Given the description of an element on the screen output the (x, y) to click on. 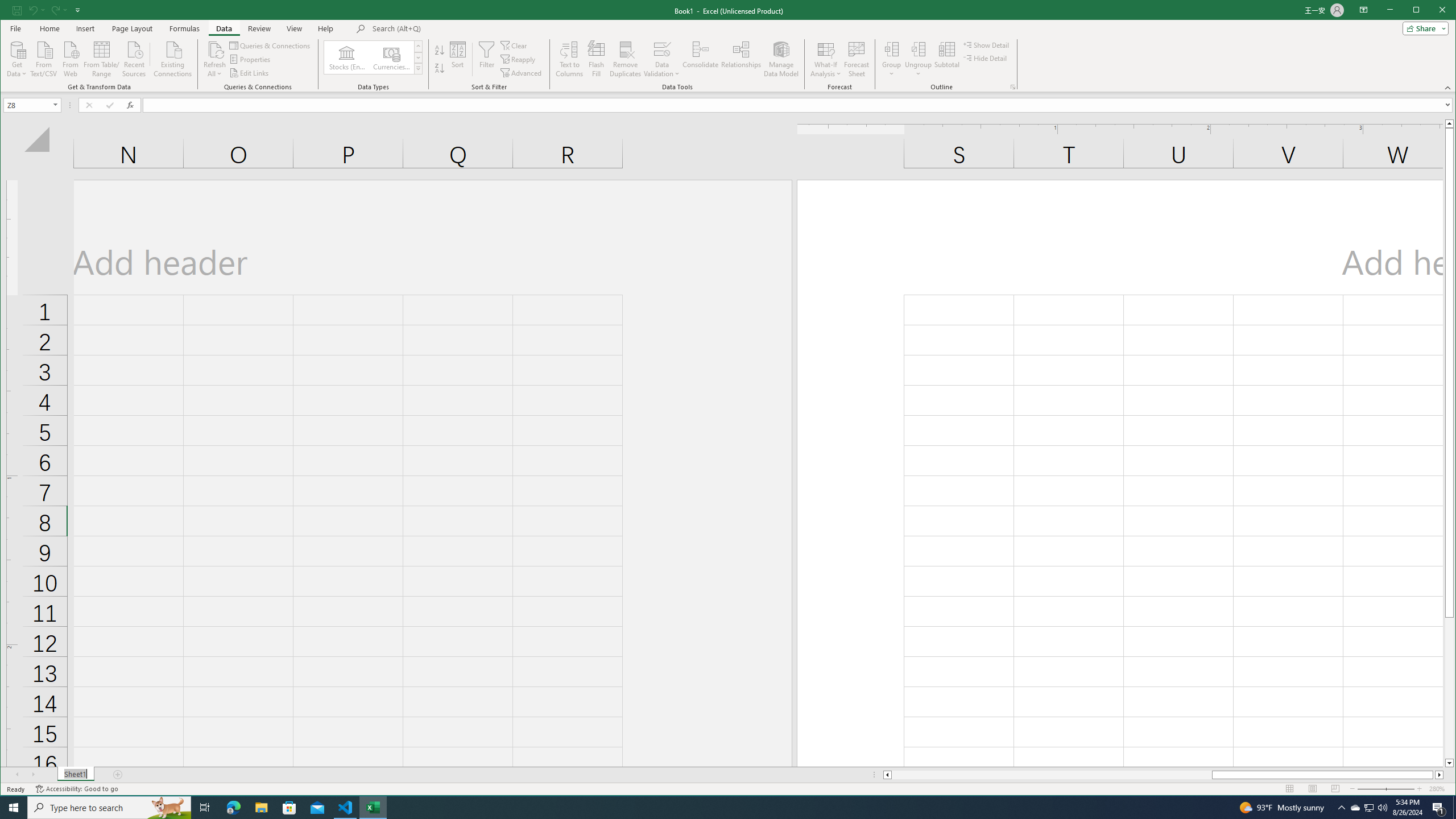
Text to Columns... (569, 59)
Filter (486, 59)
Accessibility Checker Accessibility: Good to go (76, 788)
Insert (85, 28)
Class: NetUIImage (418, 68)
Zoom Out (1378, 788)
Review (259, 28)
Hide Detail (985, 57)
Data Validation... (661, 48)
Sort Z to A (439, 68)
Visual Studio Code - 1 running window (345, 807)
Manage Data Model (781, 59)
Refresh All (214, 59)
